Given the description of an element on the screen output the (x, y) to click on. 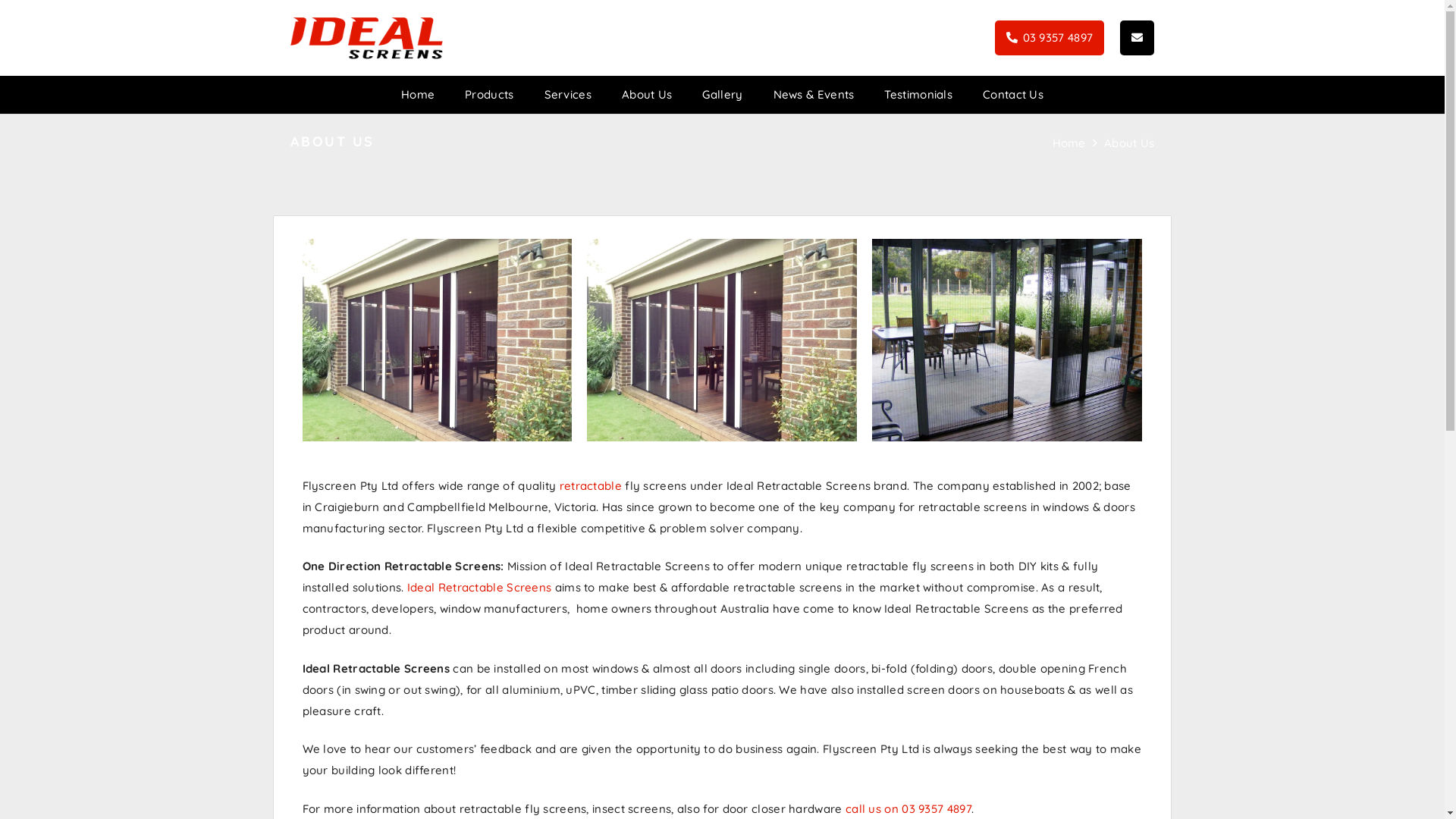
call us on 03 9357 4897 Element type: text (908, 808)
Contact Us Element type: text (1012, 94)
Products Element type: text (488, 94)
retractable-alfresco-fly-screens Element type: hover (436, 339)
retractable-alfresco-fly-screens (1) Element type: hover (721, 339)
Home Element type: text (1068, 142)
About Us Element type: text (1129, 142)
About Us Element type: text (646, 94)
News & Events Element type: text (813, 94)
Gallery Element type: text (722, 94)
Services Element type: text (567, 94)
Home Element type: text (417, 94)
Ideal Retractable Screens Element type: text (479, 587)
03 9357 4897 Element type: text (1049, 37)
flyscreen-flyscreen-cat-10 Element type: hover (1007, 339)
retractable Element type: text (590, 485)
Testimonials Element type: text (918, 94)
